Given the description of an element on the screen output the (x, y) to click on. 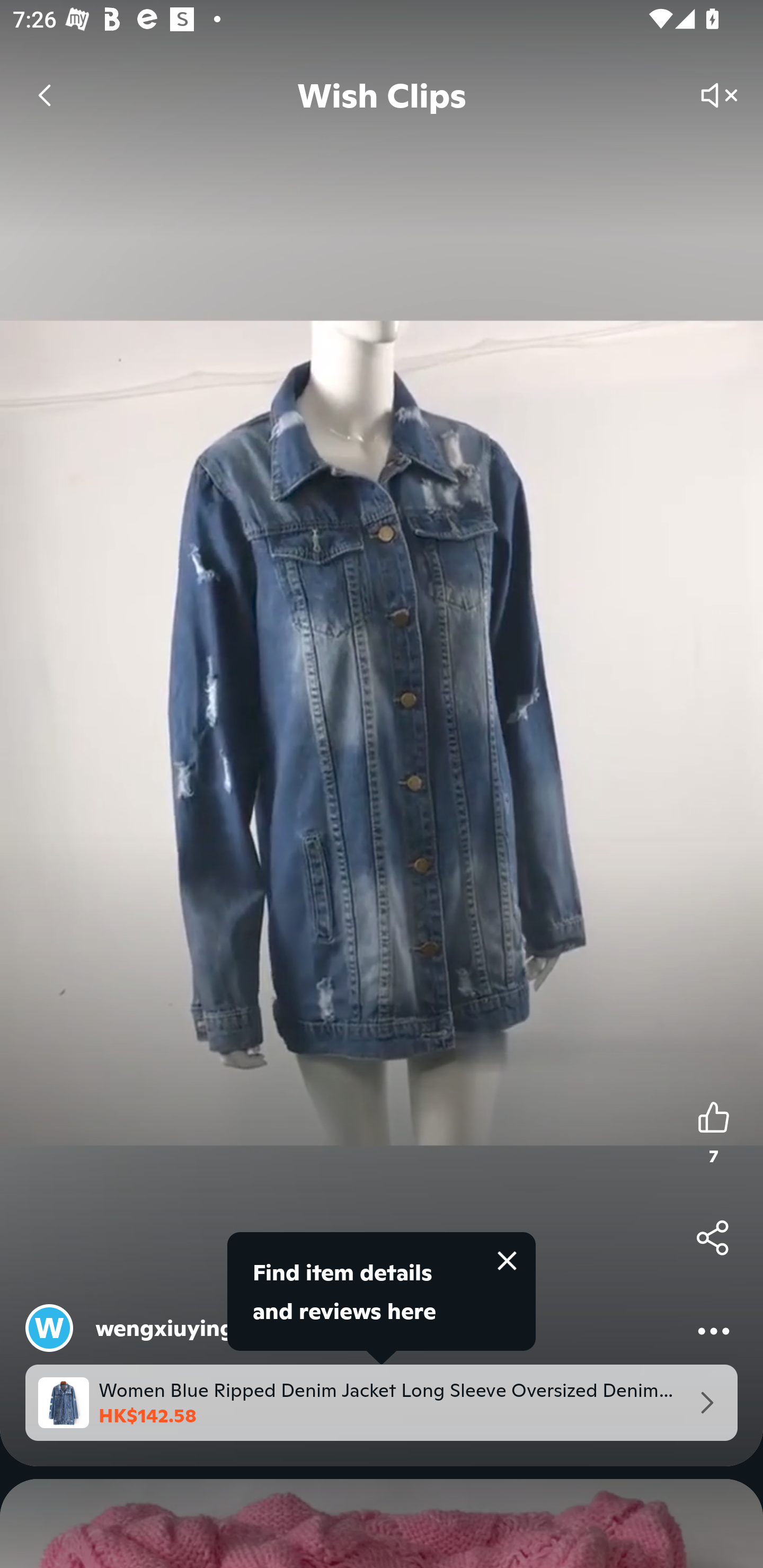
Find item details and reviews here (381, 1291)
